Given the description of an element on the screen output the (x, y) to click on. 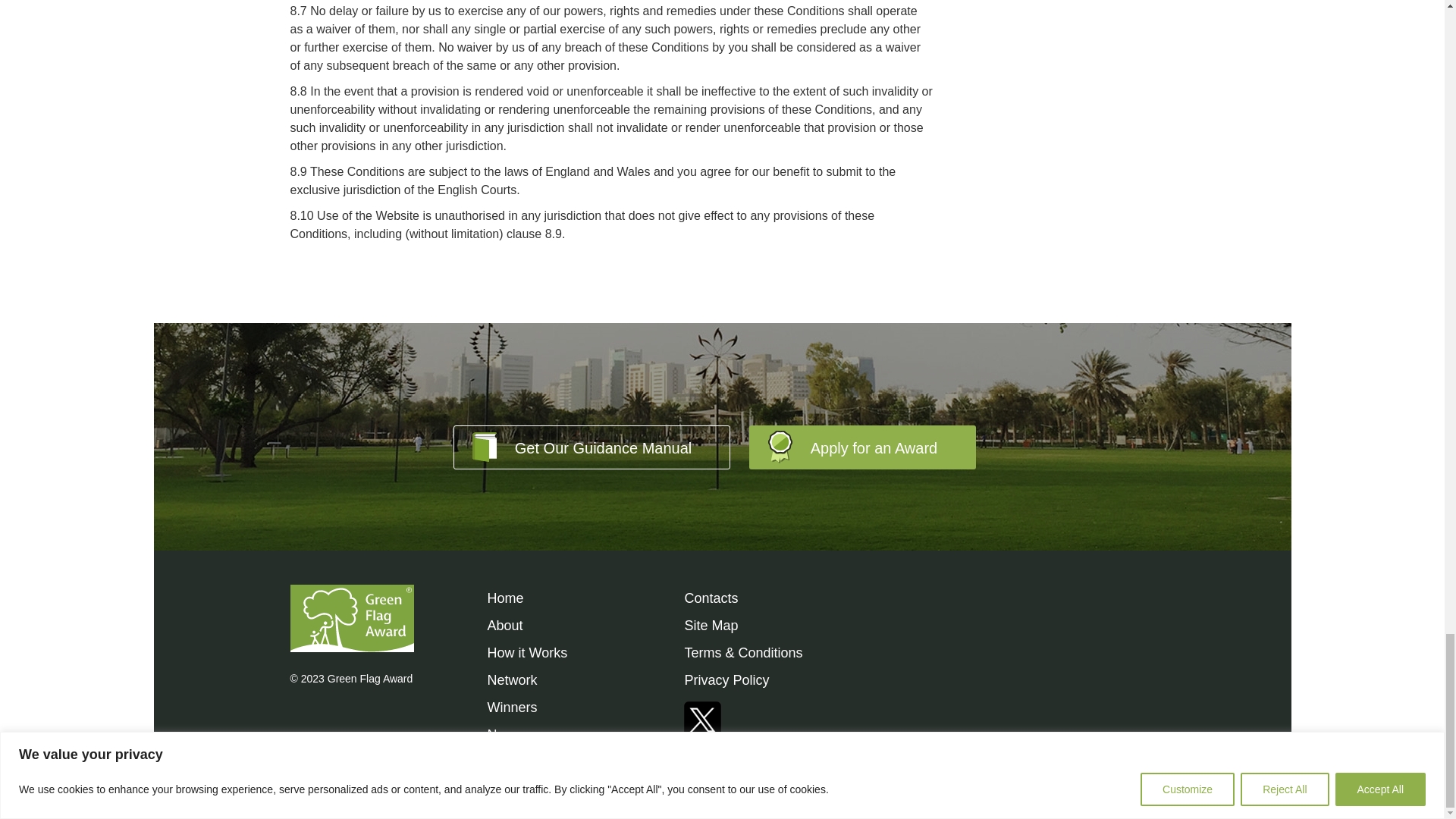
How it Works (526, 652)
Contacts (711, 598)
Award Winners (511, 707)
Twitter-x (702, 714)
Home (504, 598)
RoI (511, 679)
About the Award (504, 625)
Site Map (711, 625)
Terms and Conditions (743, 652)
News (503, 734)
Privacy (726, 679)
